Given the description of an element on the screen output the (x, y) to click on. 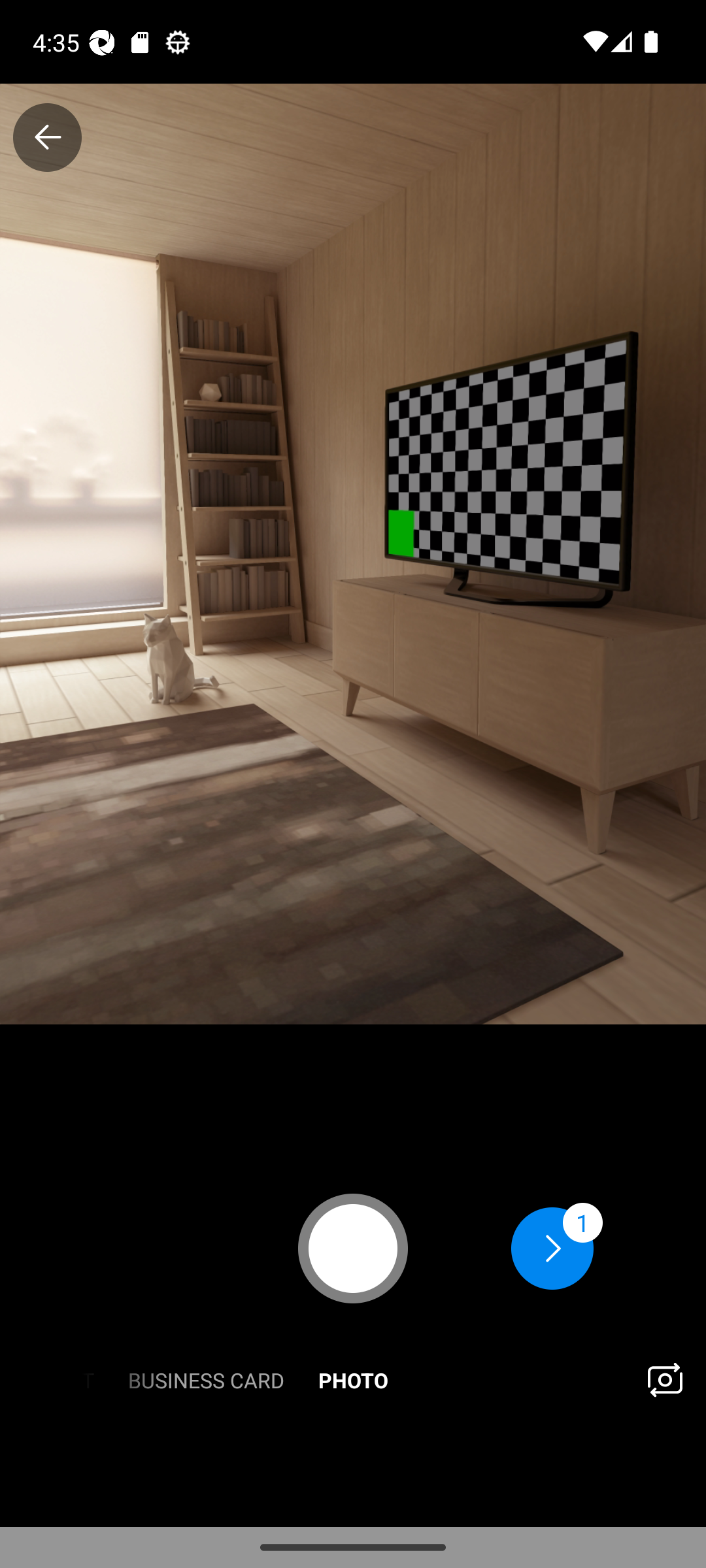
Close (47, 137)
Capture (352, 1248)
Preview 1 (556, 1247)
Flip Camera (664, 1378)
BUSINESS CARD (205, 1379)
PHOTO (352, 1379)
